Given the description of an element on the screen output the (x, y) to click on. 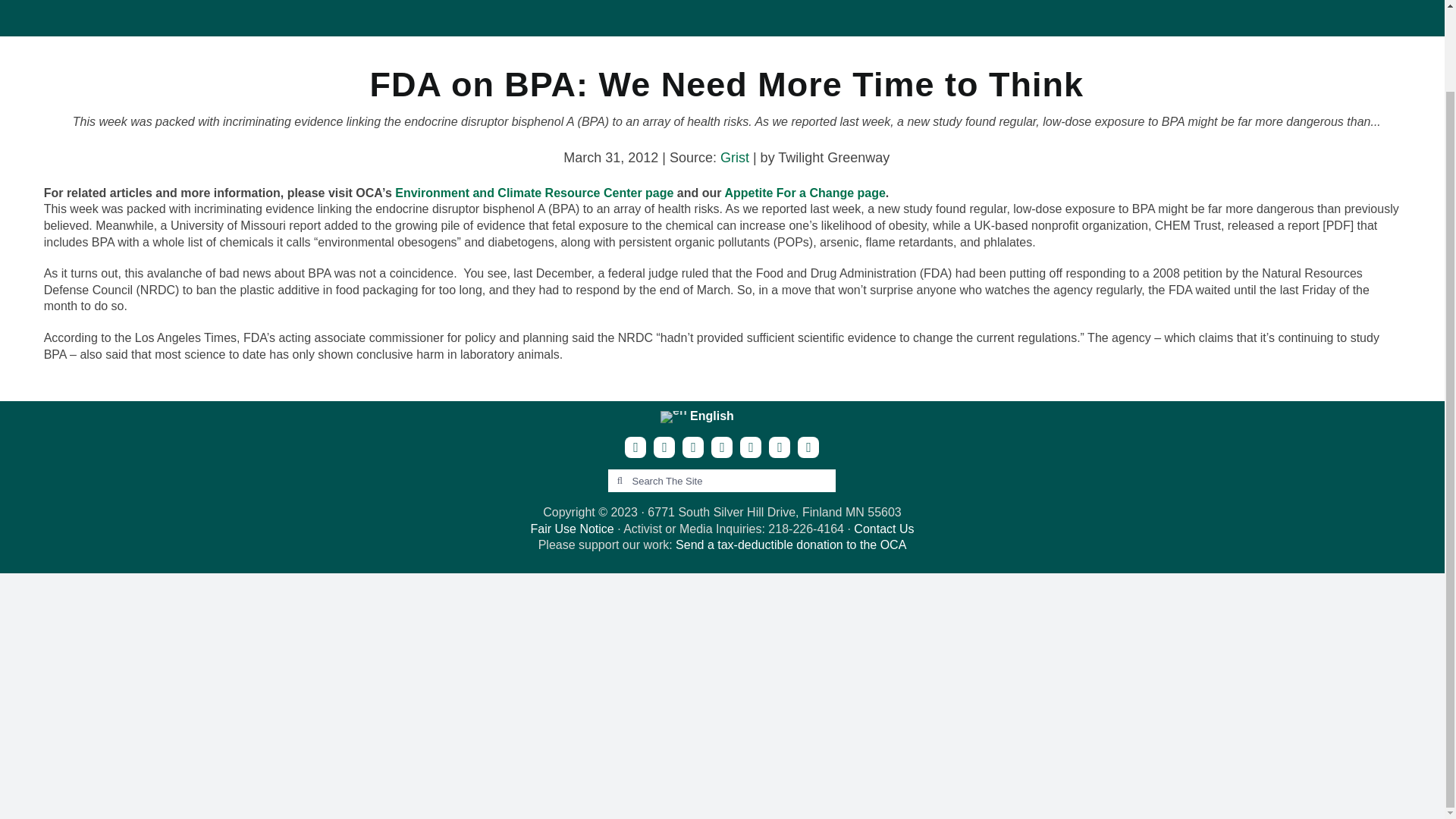
Campaigns (1053, 10)
News (901, 10)
Blog (851, 10)
About (799, 10)
Search (757, 10)
Farm Map (969, 10)
